Given the description of an element on the screen output the (x, y) to click on. 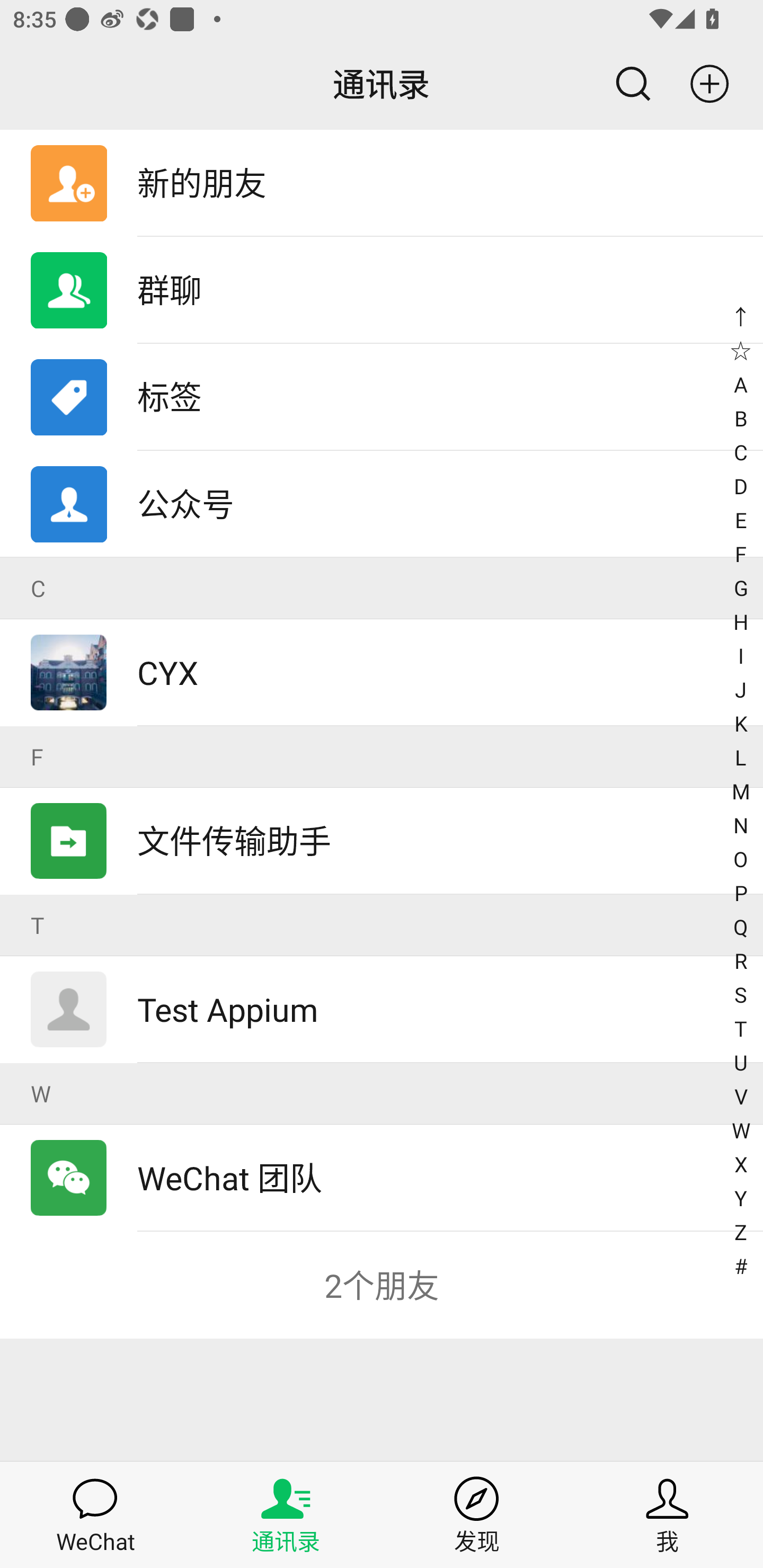
通讯录 搜索 更多功能按钮 (381, 83)
搜索 (625, 83)
更多功能按钮 (717, 83)
新的朋友 (381, 183)
群聊 (381, 289)
标签 (381, 397)
公众号 (381, 504)
C CYX (381, 641)
F 文件传输助手 (381, 810)
T Test Appium (381, 979)
W WeChat 团队 (381, 1146)
2个朋友 (381, 1284)
WeChat (95, 1514)
通讯录 (285, 1514)
发现 (476, 1514)
我 (667, 1514)
